Given the description of an element on the screen output the (x, y) to click on. 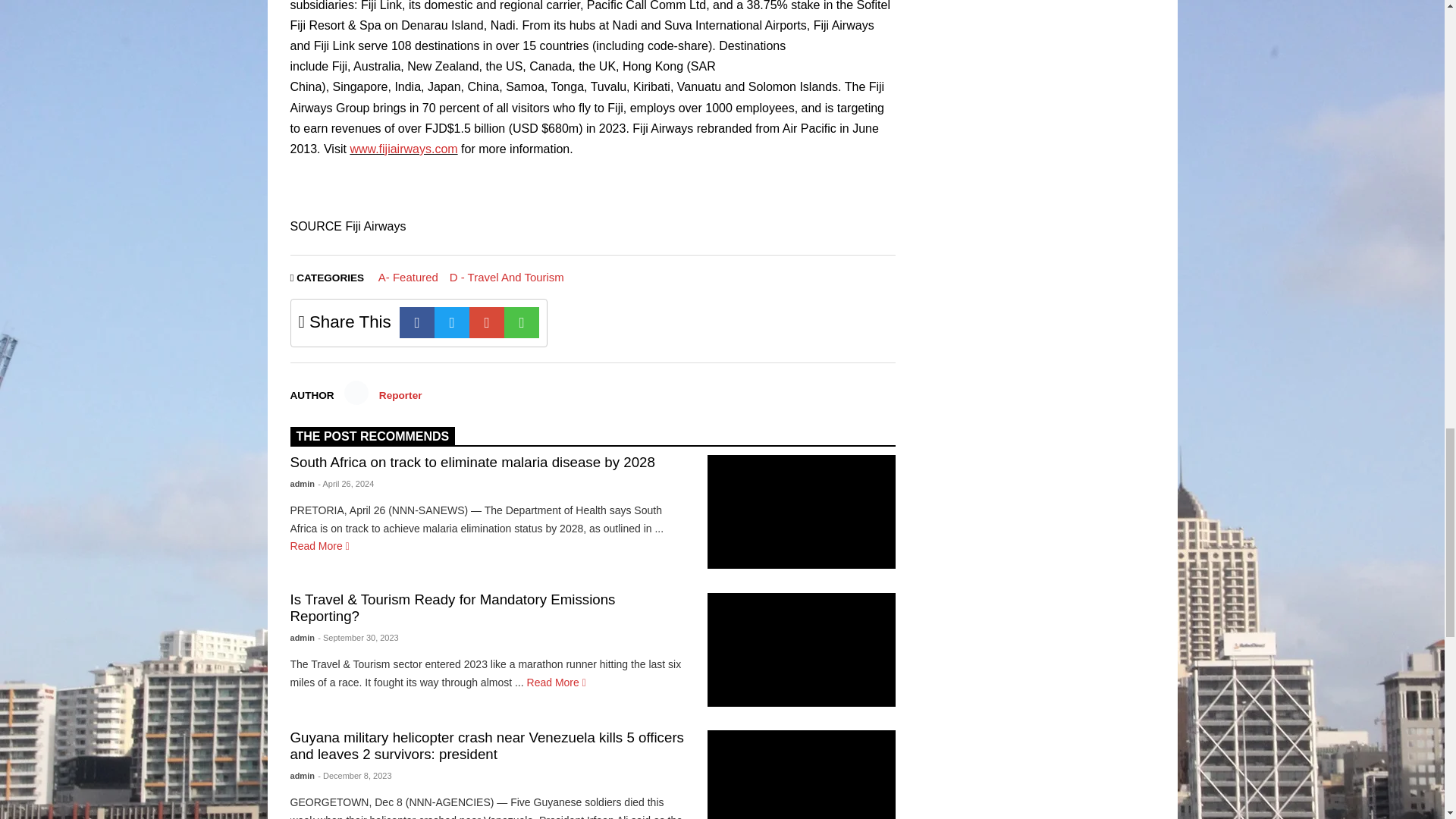
Facebook (415, 322)
www.fijiairways.com (403, 148)
D - Travel And Tourism (506, 277)
Twitter (450, 322)
A- Featured (408, 277)
E-mail (485, 322)
